Given the description of an element on the screen output the (x, y) to click on. 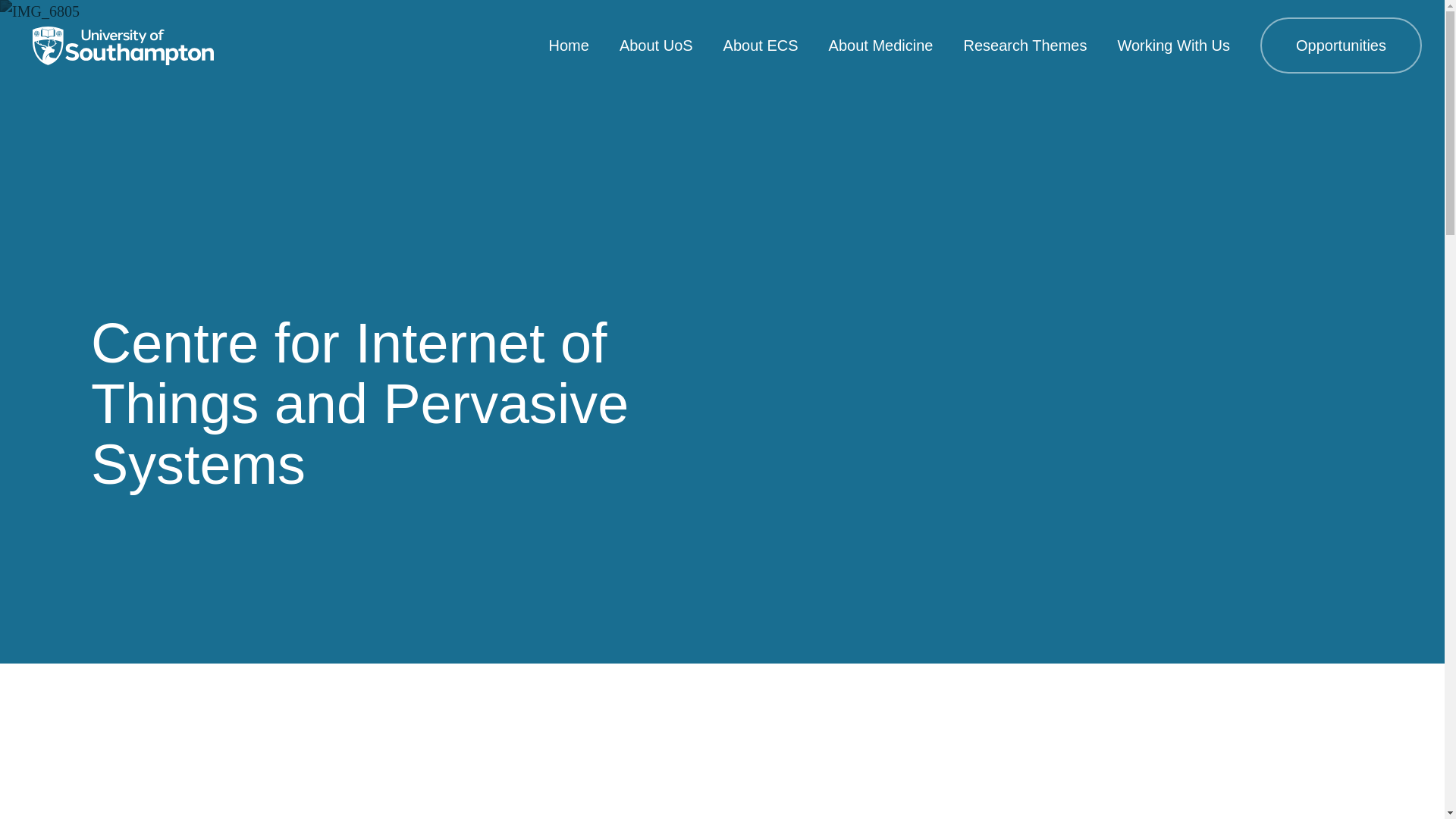
Home (568, 45)
Working With Us (1173, 45)
Research Themes (1024, 45)
About UoS (656, 45)
Opportunities (1341, 45)
Medicine (123, 45)
About ECS (760, 45)
About Medicine (880, 45)
